Given the description of an element on the screen output the (x, y) to click on. 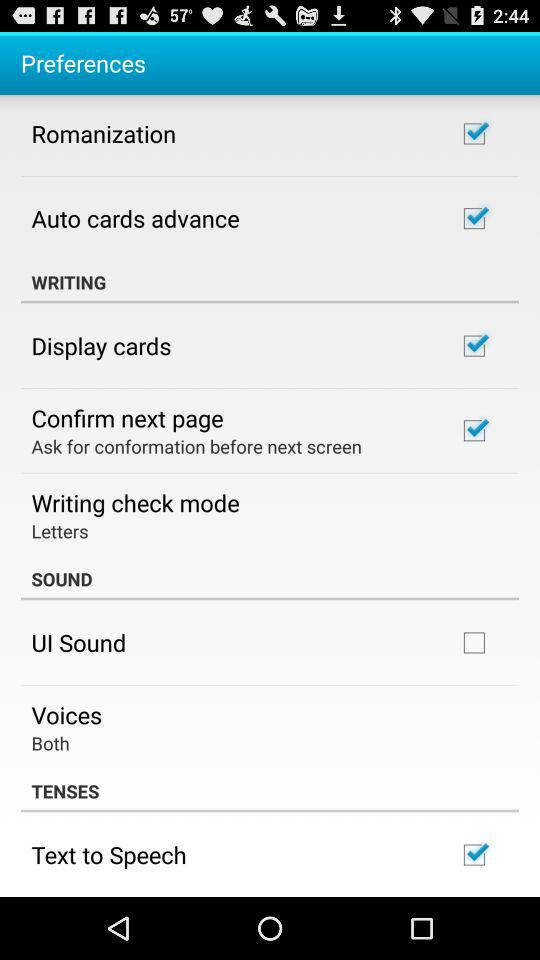
press the app below the writing icon (101, 345)
